Given the description of an element on the screen output the (x, y) to click on. 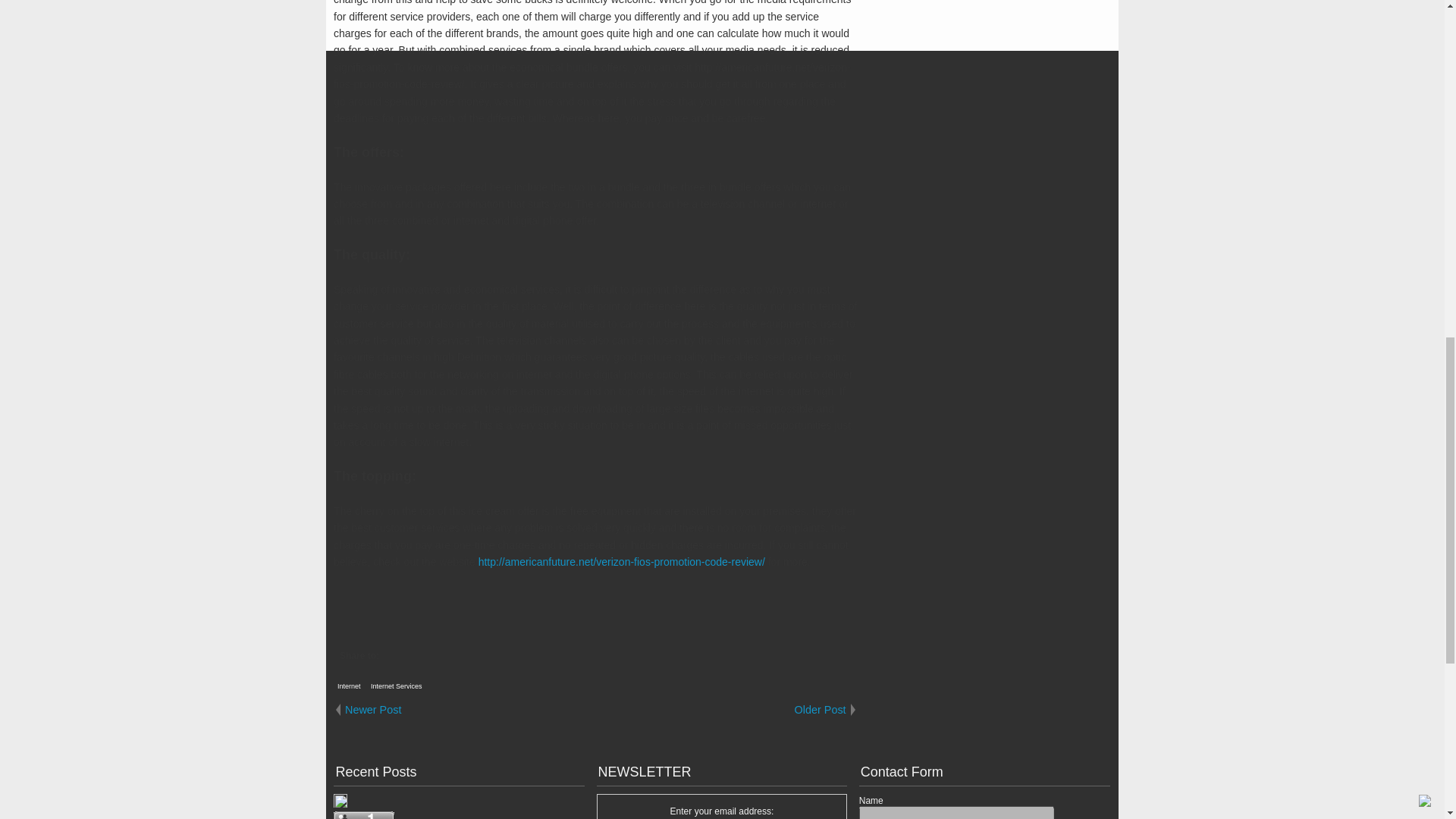
Older Post (726, 709)
Newer Post (464, 709)
Internet Services (396, 686)
Internet (349, 686)
Newer Post (464, 709)
